Given the description of an element on the screen output the (x, y) to click on. 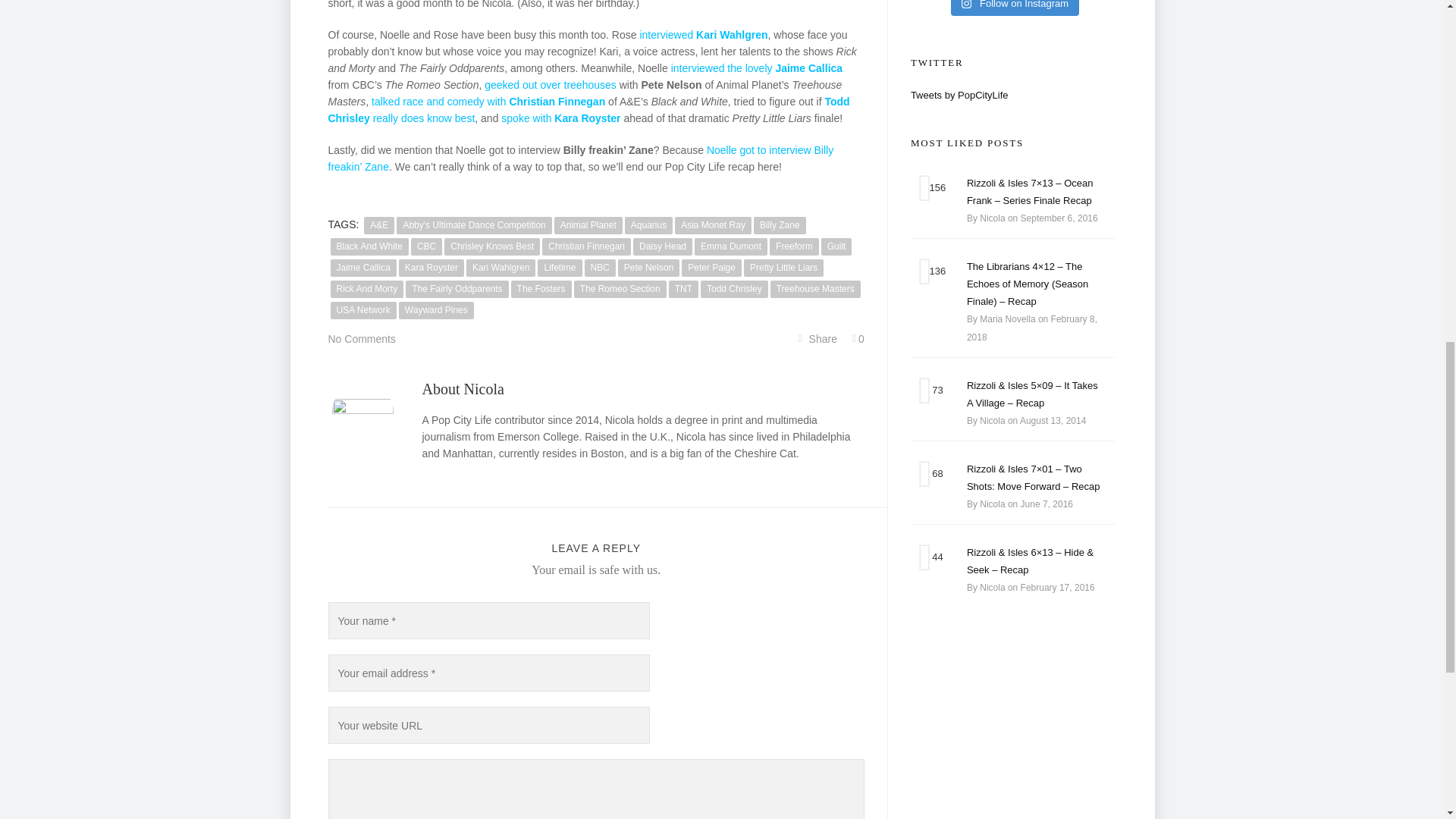
Abby'S Ultimate Dance Competition (473, 225)
No Comments (360, 338)
interviewed Kari Wahlgren (703, 34)
Animal Planet (588, 225)
Black And White (369, 246)
Christian Finnegan (585, 246)
talked race and comedy with Christian Finnegan (488, 101)
interviewed the lovely Jaime Callica (757, 68)
Chrisley Knows Best (492, 246)
Asia Monet Ray (713, 225)
spoke with Kara Royster (560, 118)
geeked out over treehouses (549, 84)
Todd Chrisley really does know best (587, 109)
Billy Zane (780, 225)
Aquarius (648, 225)
